Given the description of an element on the screen output the (x, y) to click on. 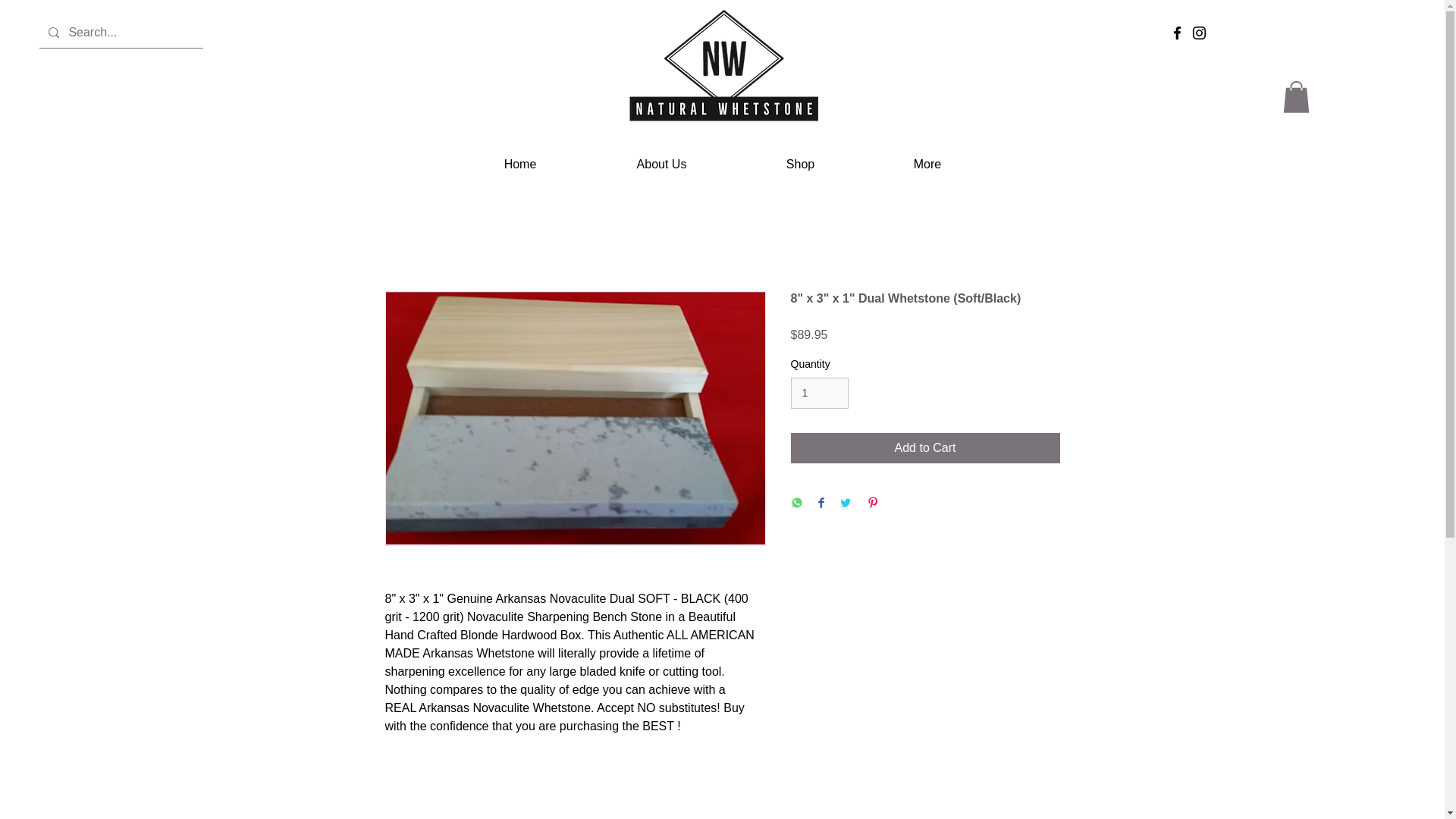
Add to Cart (924, 448)
1 (818, 392)
Home (519, 164)
About Us (661, 164)
Shop (800, 164)
